Given the description of an element on the screen output the (x, y) to click on. 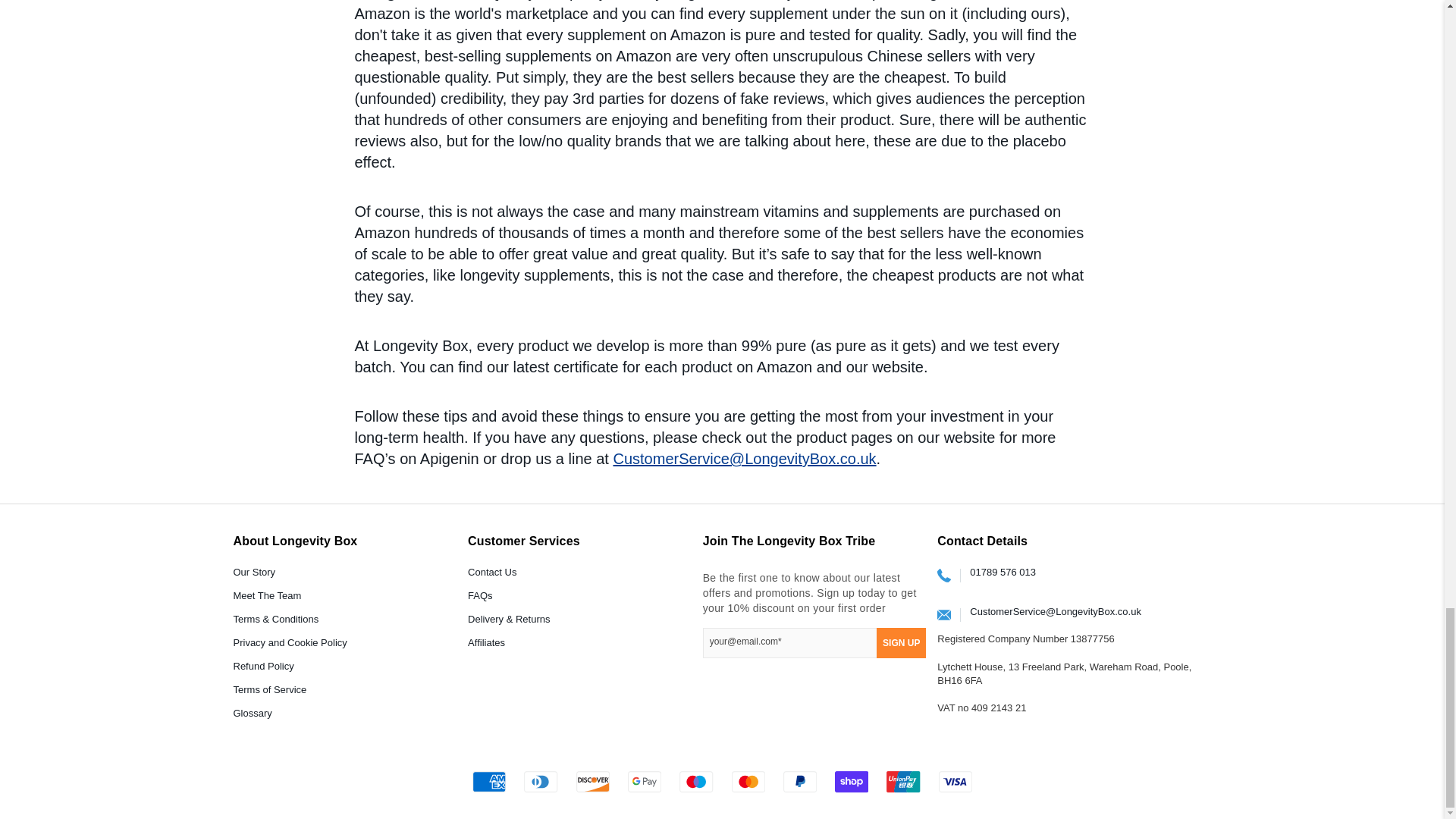
Google Pay (644, 781)
American Express (488, 781)
Mastercard (747, 781)
Discover (593, 781)
Maestro (696, 781)
Diners Club (540, 781)
Visa (955, 781)
PayPal (799, 781)
Union Pay (903, 781)
Shop Pay (851, 781)
